Given the description of an element on the screen output the (x, y) to click on. 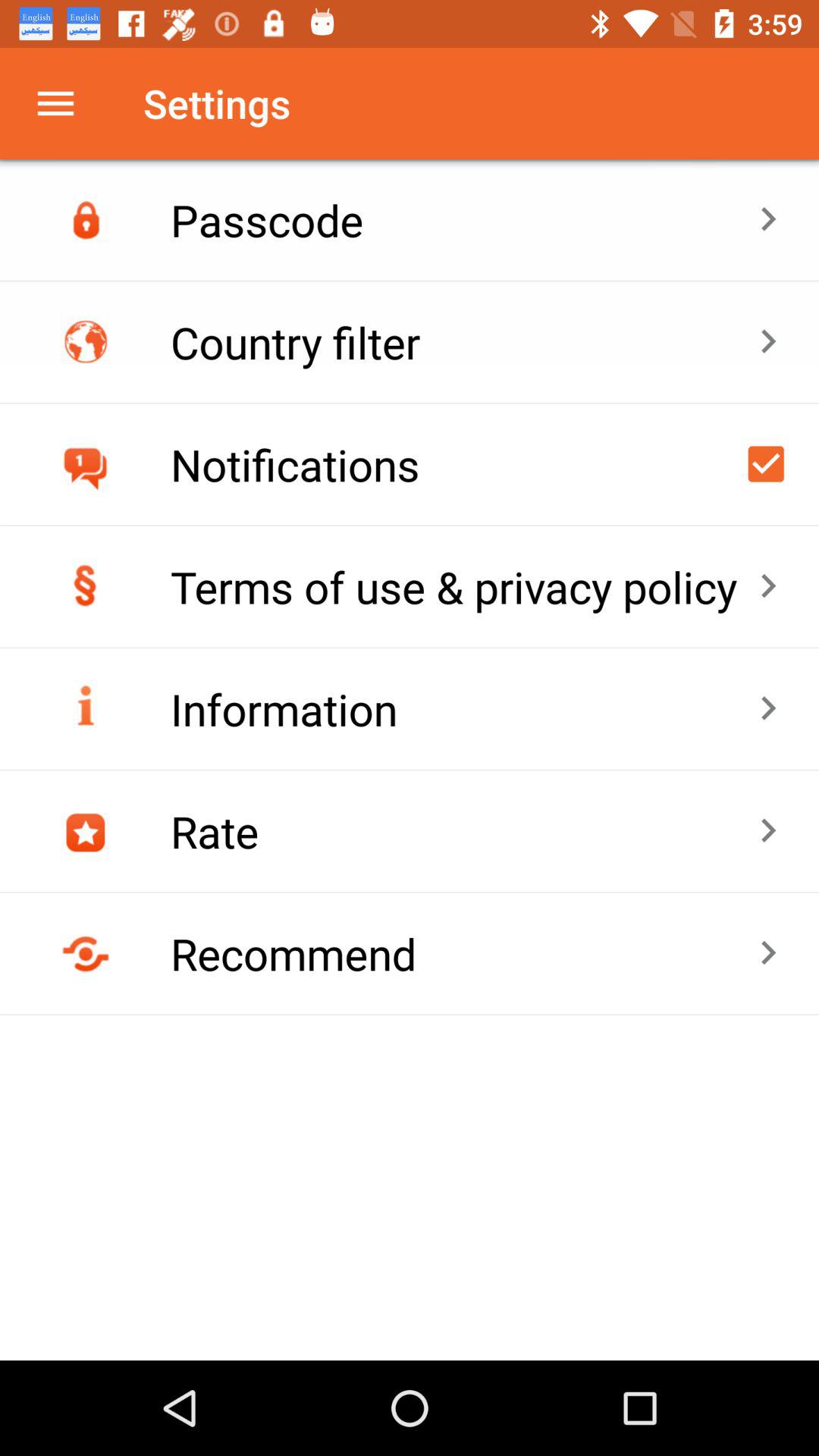
select icon below the passcode icon (464, 341)
